Given the description of an element on the screen output the (x, y) to click on. 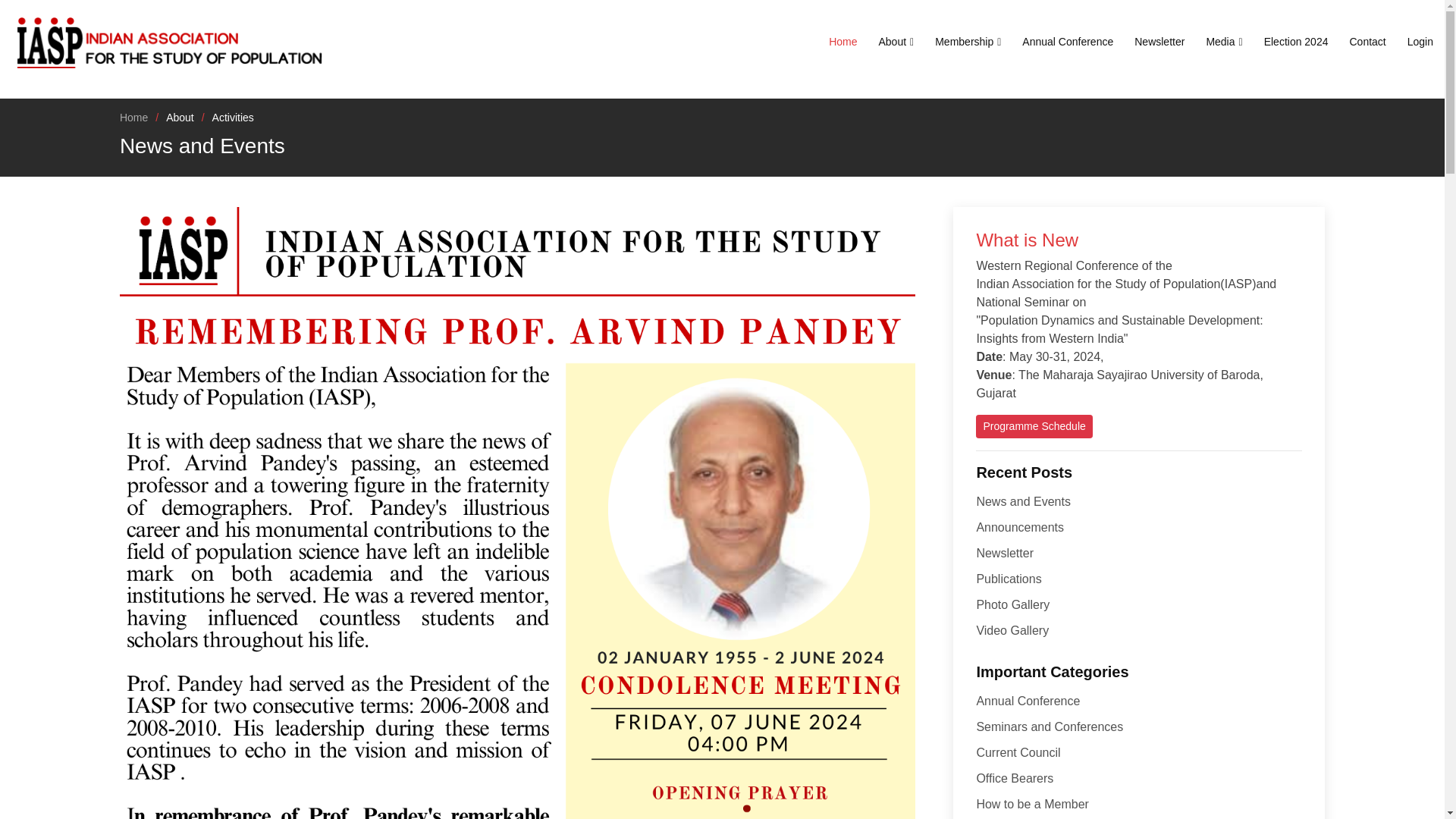
Newsletter (1159, 41)
Home (133, 117)
Annual Conference (1067, 41)
About (895, 41)
Login (1419, 41)
Election 2024 (1295, 41)
Membership (967, 41)
Home (842, 41)
Contact (1367, 41)
Media (1223, 41)
